Given the description of an element on the screen output the (x, y) to click on. 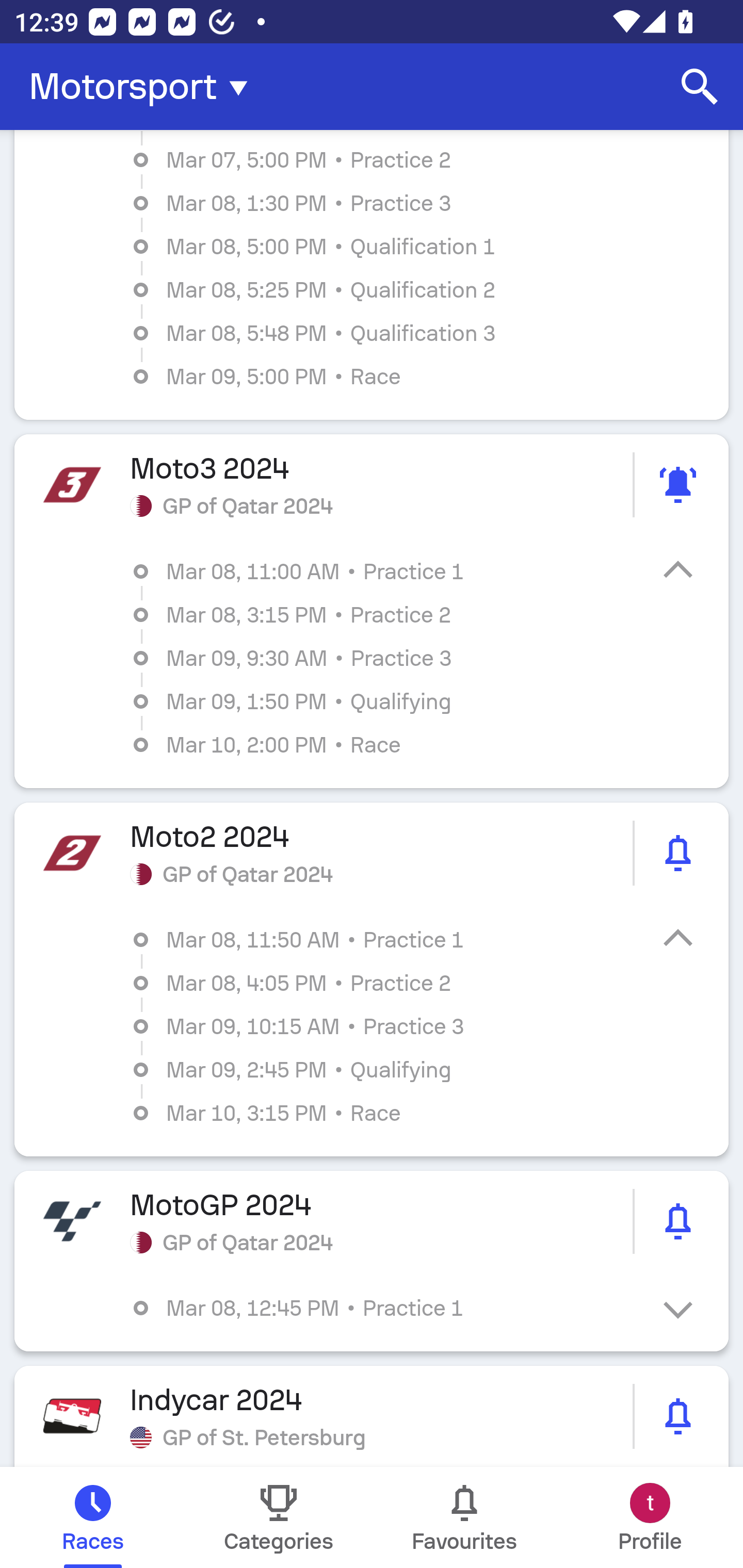
Motorsport (144, 86)
Search (699, 86)
Mar 08, 12:45 PM • Practice 1 (385, 1308)
Indycar 2024 GP of St. Petersburg picture (371, 1416)
Categories (278, 1517)
Favourites (464, 1517)
Profile (650, 1517)
